Given the description of an element on the screen output the (x, y) to click on. 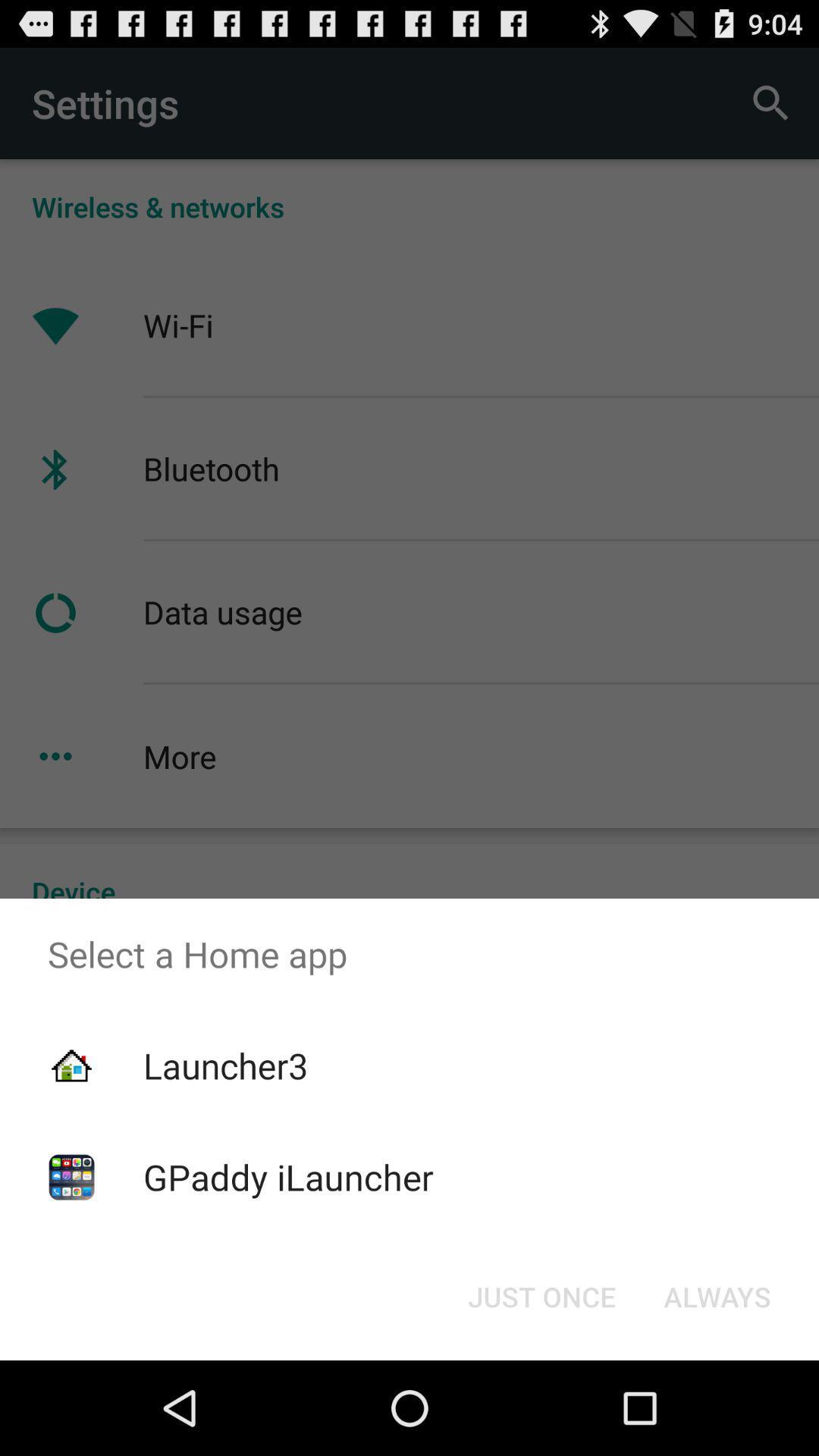
open the app below the select a home app (717, 1296)
